Given the description of an element on the screen output the (x, y) to click on. 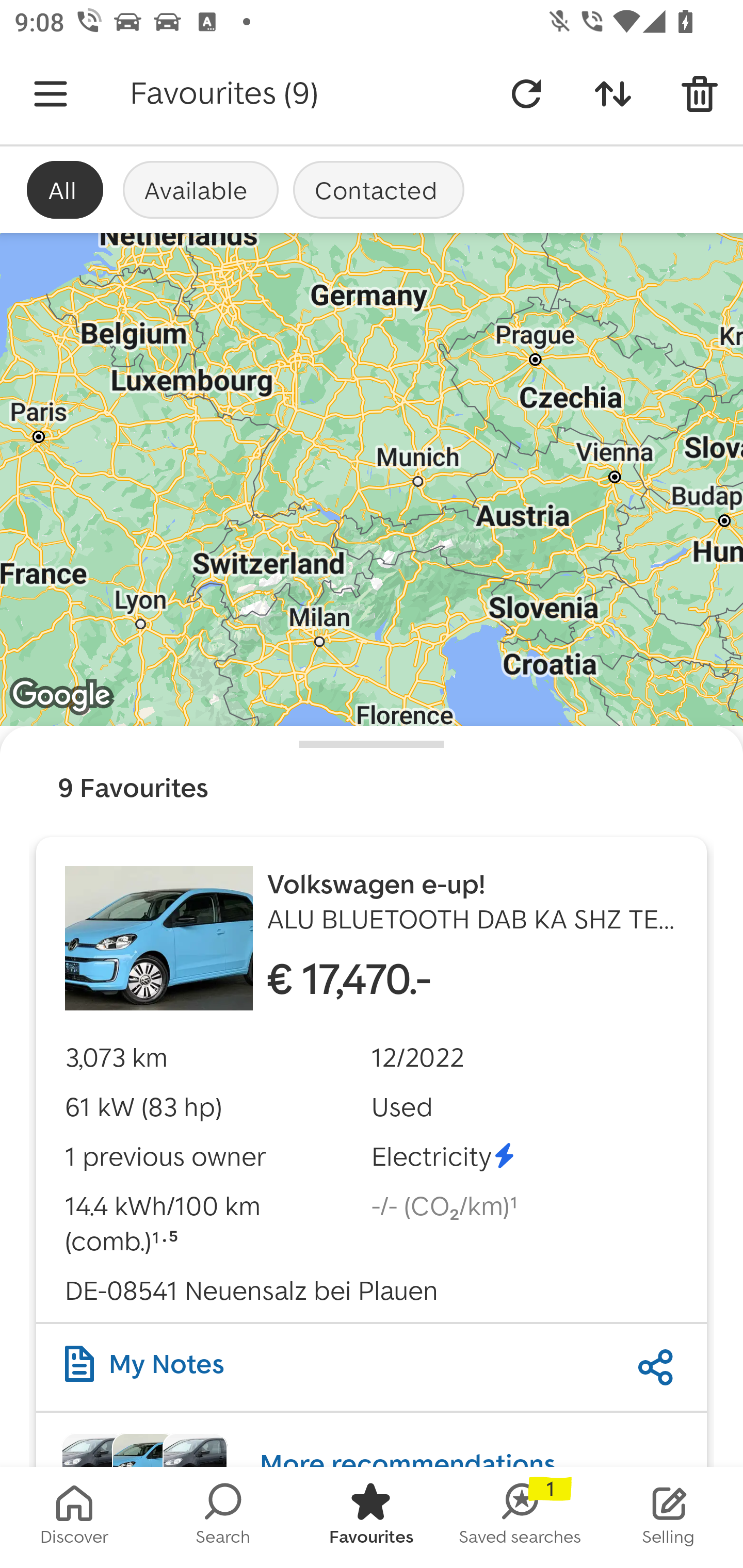
Navigate up (50, 93)
Sort (612, 93)
Delete vehicles (699, 93)
All (64, 189)
Available (200, 189)
Contacted (378, 189)
Google Map (371, 479)
My Notes (144, 1363)
HOMESCREEN Discover (74, 1517)
SEARCH Search (222, 1517)
FAVORITES Favourites (371, 1517)
SAVED_SEARCHES Saved searches 1 (519, 1517)
STOCK_LIST Selling (668, 1517)
